Given the description of an element on the screen output the (x, y) to click on. 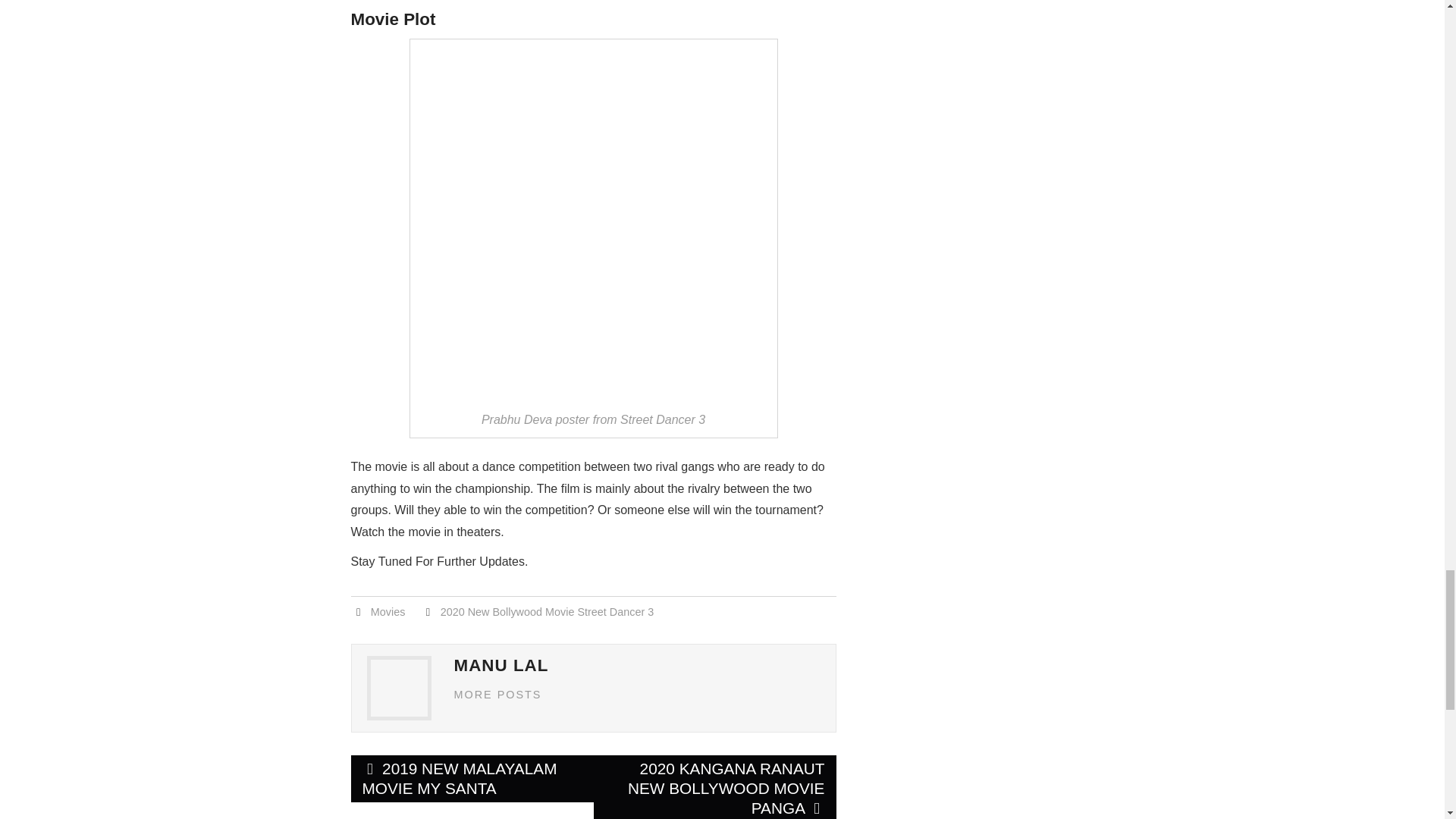
2019 NEW MALAYALAM MOVIE MY SANTA (471, 778)
2020 New Bollywood Movie Street Dancer 3 (547, 612)
Movies (388, 612)
2020 KANGANA RANAUT NEW BOLLYWOOD MOVIE PANGA (713, 787)
MORE POSTS (496, 694)
